Given the description of an element on the screen output the (x, y) to click on. 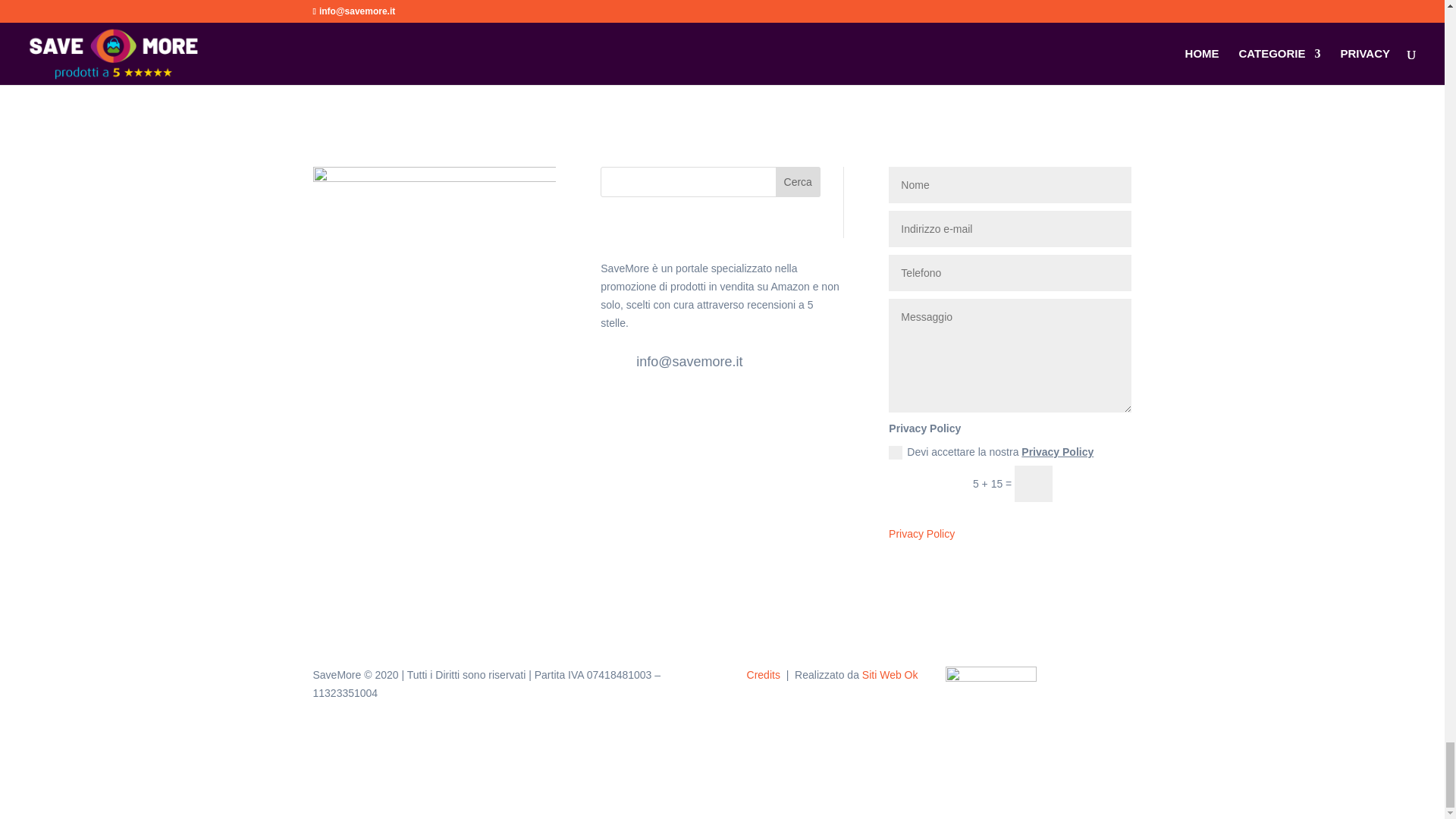
SITIWEBOK-Logo-BIANCO-NEGATIVO (414, 22)
Segui su X (642, 413)
Cerca (798, 182)
Segui su Facebook (611, 413)
Privacy Policy  (921, 533)
